Given the description of an element on the screen output the (x, y) to click on. 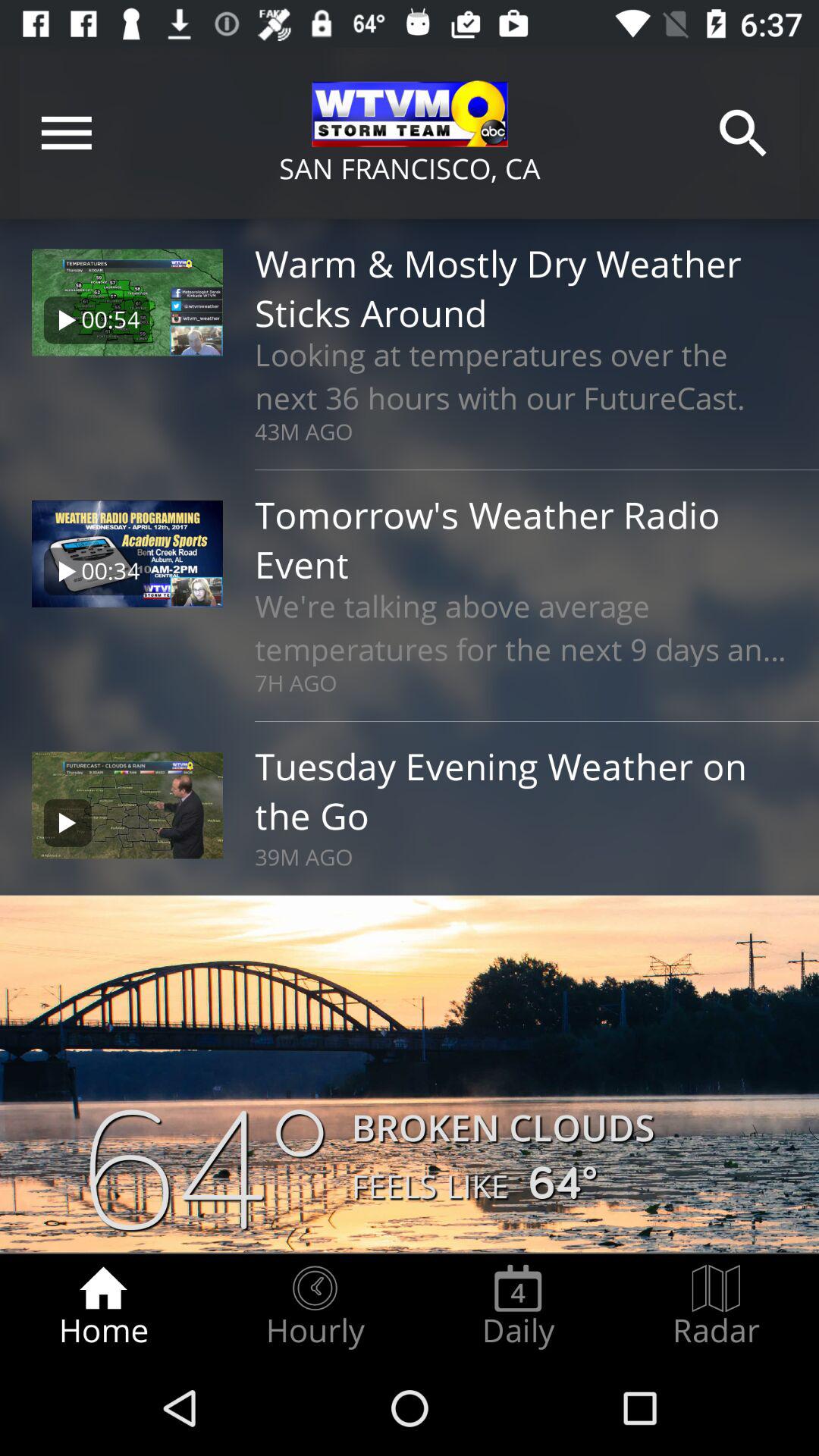
press the icon to the left of daily icon (315, 1307)
